Given the description of an element on the screen output the (x, y) to click on. 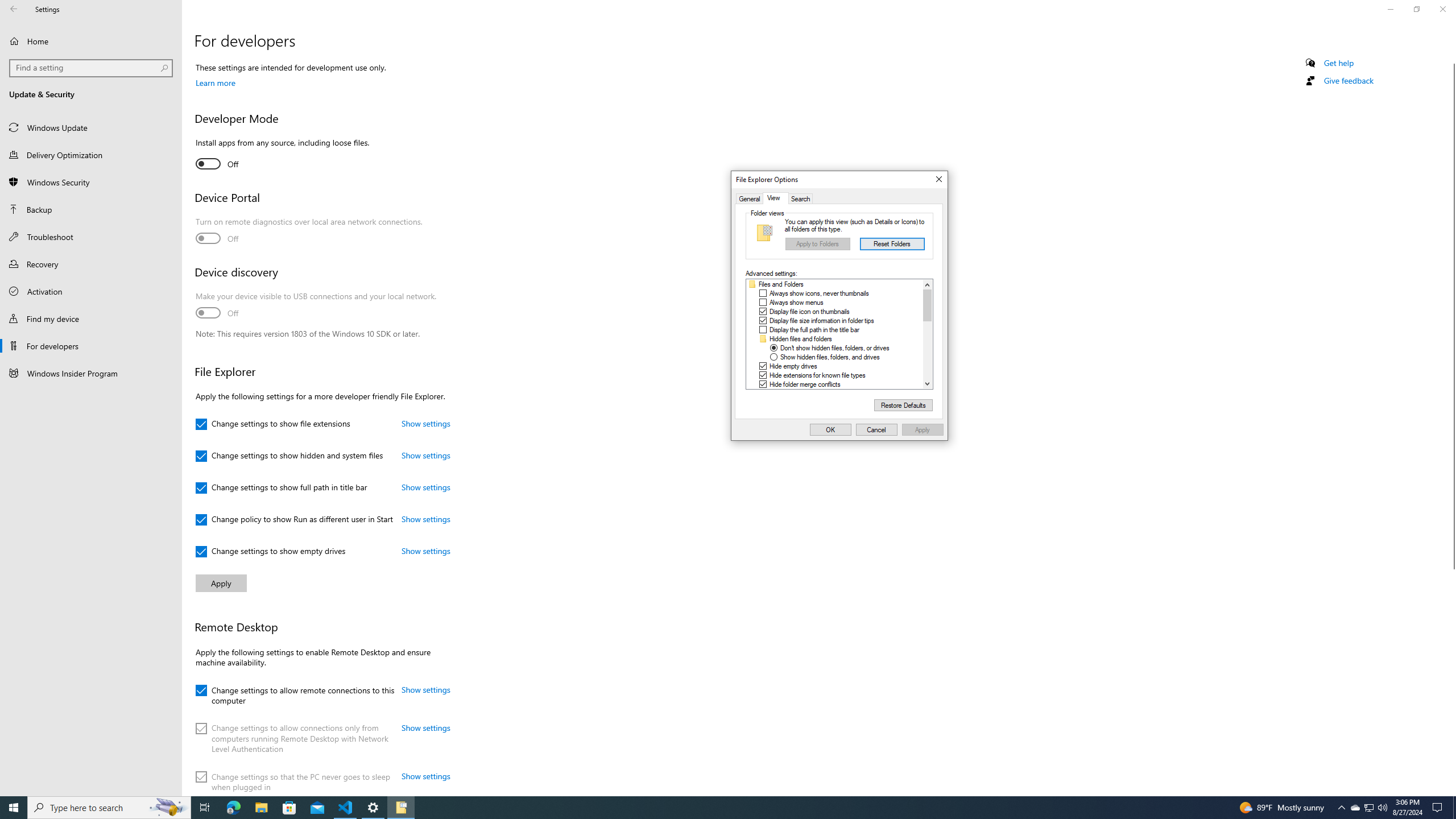
Cancel (877, 429)
Notification Chevron (1341, 807)
